Given the description of an element on the screen output the (x, y) to click on. 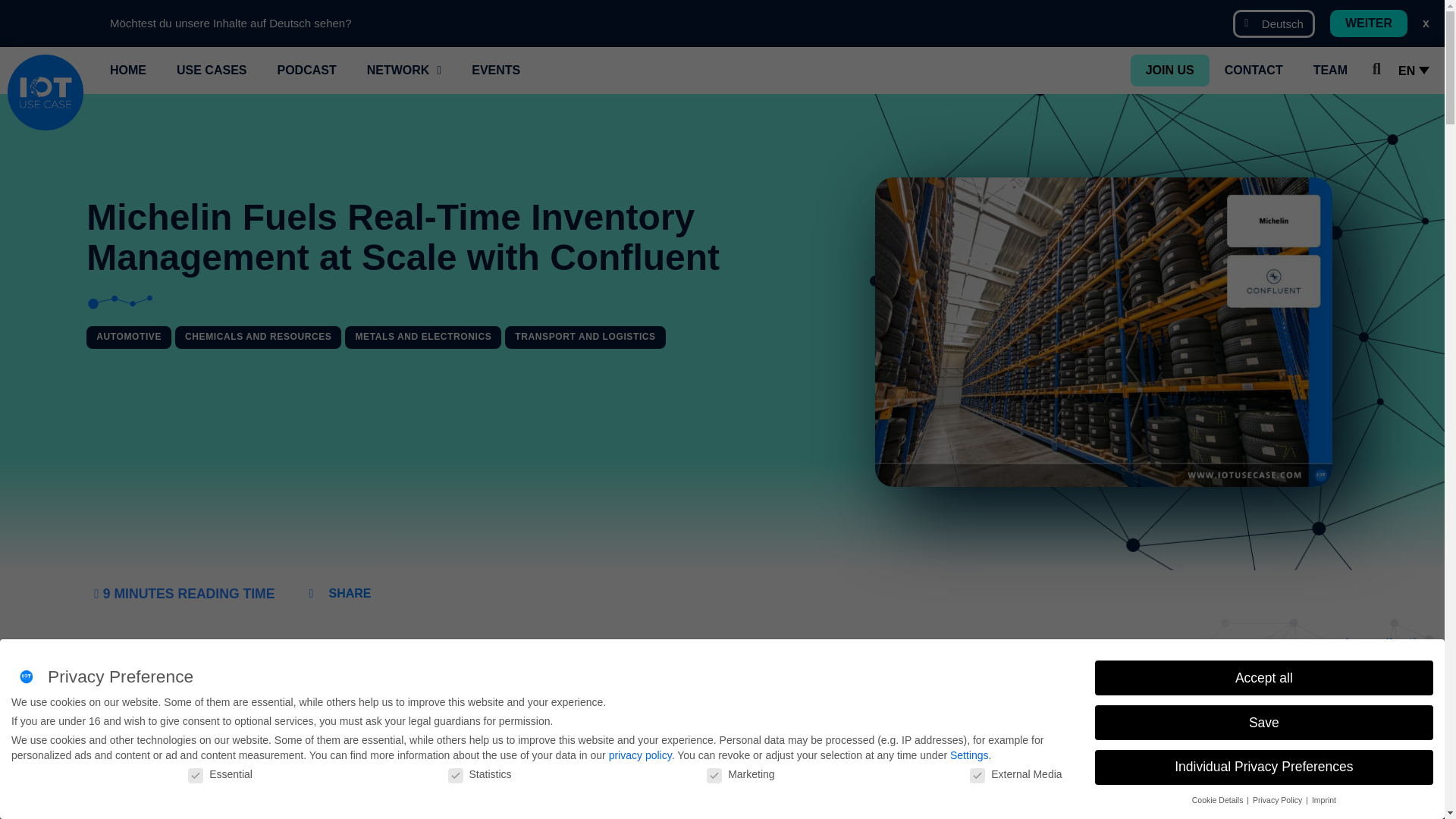
WEITER (1368, 22)
